Given the description of an element on the screen output the (x, y) to click on. 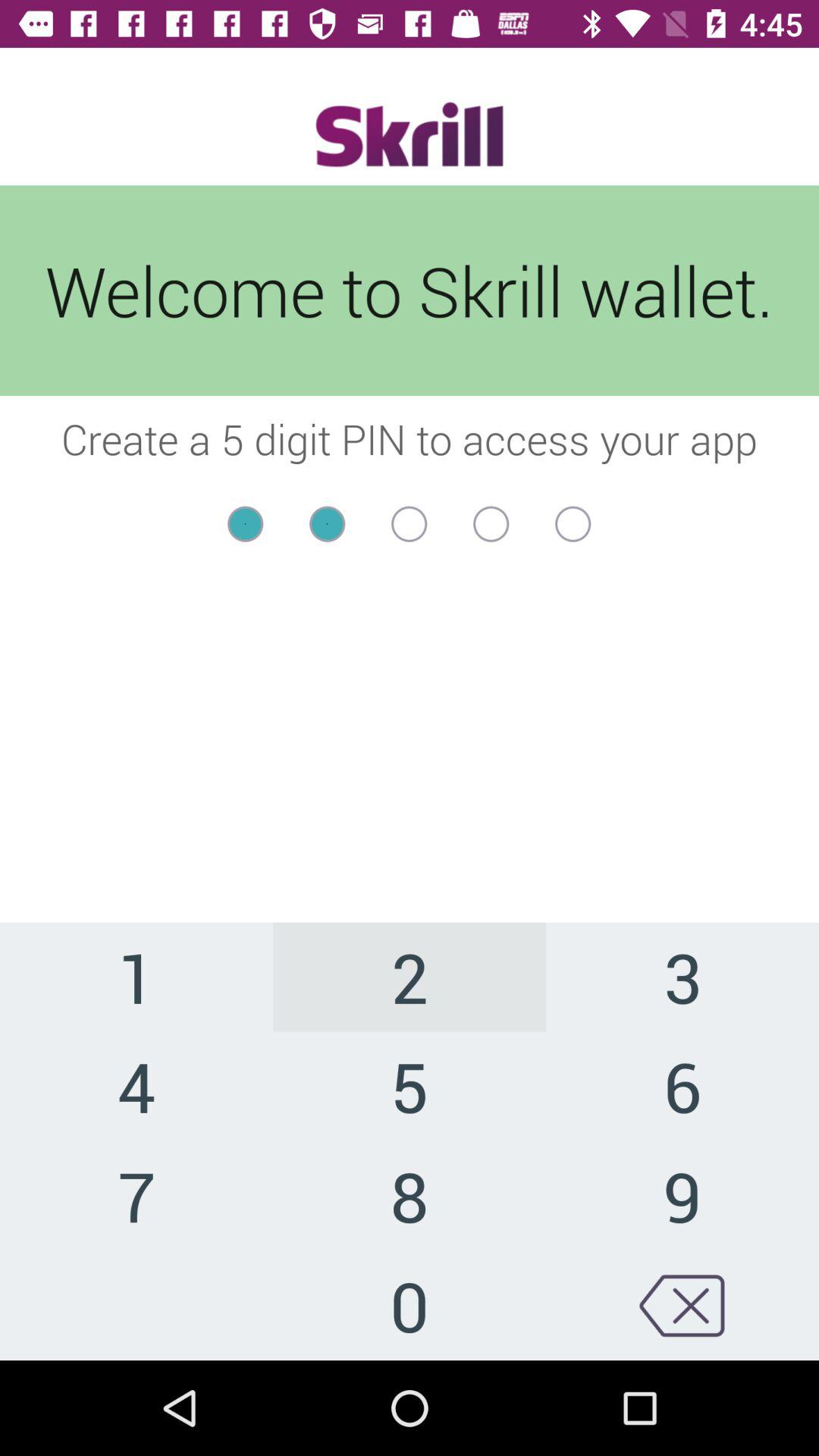
open item to the left of the 5 item (136, 1195)
